Given the description of an element on the screen output the (x, y) to click on. 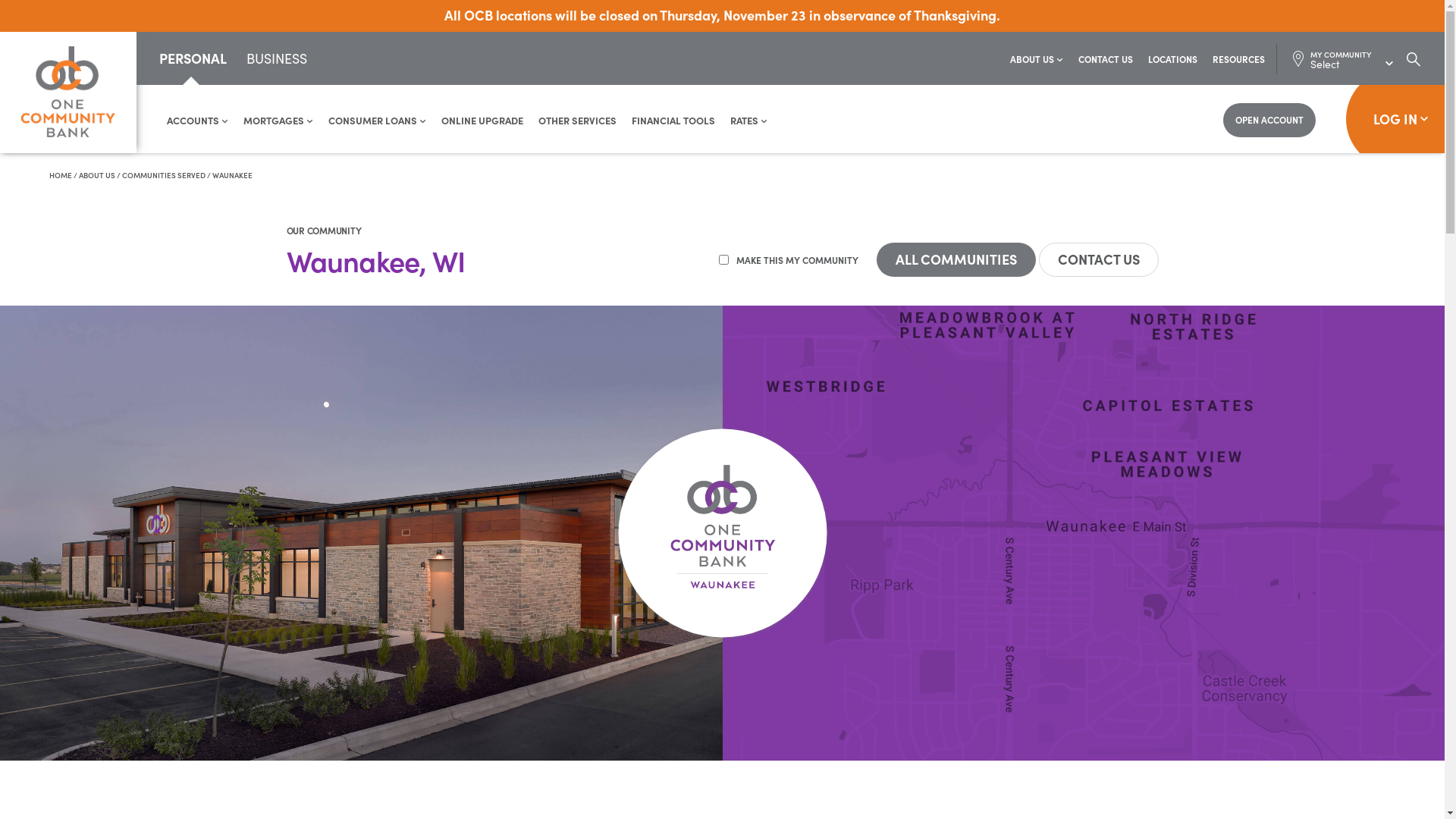
CONTACT US Element type: text (1105, 58)
RESOURCES Element type: text (1238, 58)
FINANCIAL TOOLS Element type: text (673, 119)
ONLINE UPGRADE Element type: text (482, 119)
CONSUMER LOANS Element type: text (377, 119)
ABOUT US Element type: text (1036, 58)
CONTACT US Element type: text (1098, 259)
COMMUNITIES SERVED Element type: text (163, 174)
PERSONAL Element type: text (192, 57)
LOG IN Element type: text (1395, 118)
OPEN ACCOUNT Element type: text (1269, 120)
BUSINESS Element type: text (275, 60)
RATES Element type: text (748, 119)
ABOUT US Element type: text (96, 174)
OTHER SERVICES Element type: text (577, 119)
ALL COMMUNITIES Element type: text (955, 259)
ACCOUNTS Element type: text (197, 119)
LOCATIONS Element type: text (1172, 58)
MORTGAGES Element type: text (278, 119)
HOME Element type: text (60, 174)
